Given the description of an element on the screen output the (x, y) to click on. 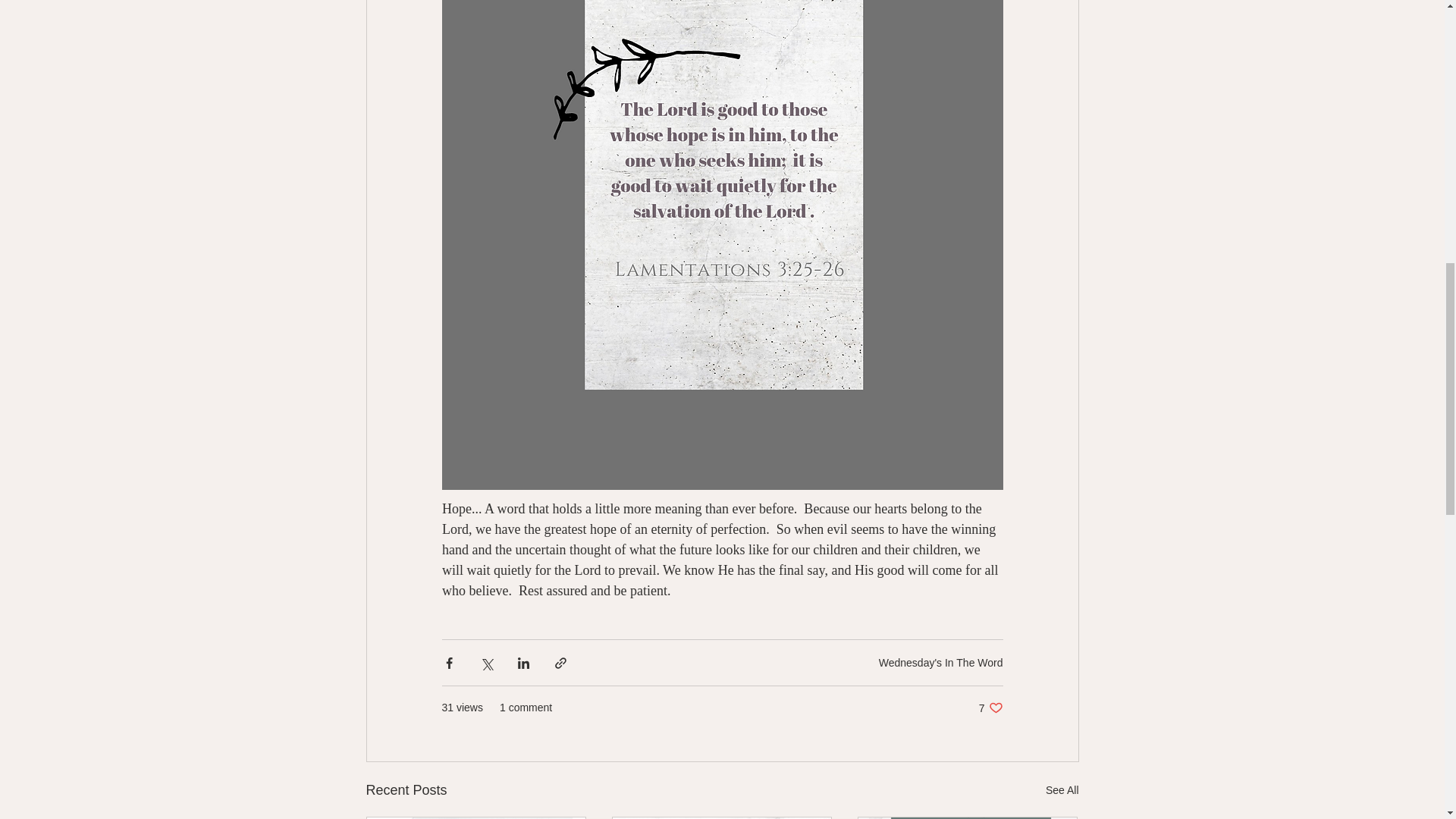
Wednesday's In The Word (990, 707)
See All (941, 662)
